Given the description of an element on the screen output the (x, y) to click on. 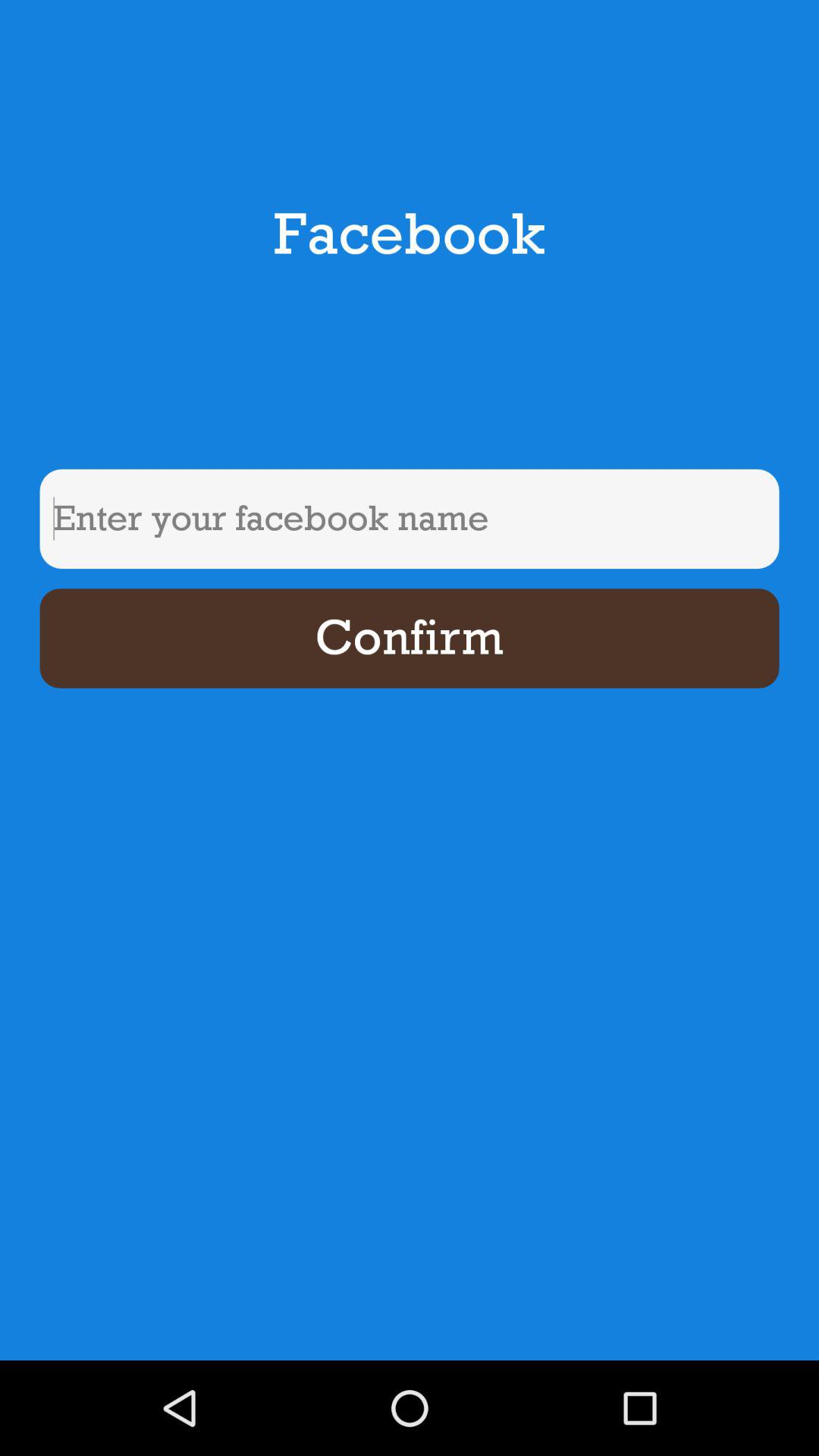
select confirm icon (409, 638)
